Given the description of an element on the screen output the (x, y) to click on. 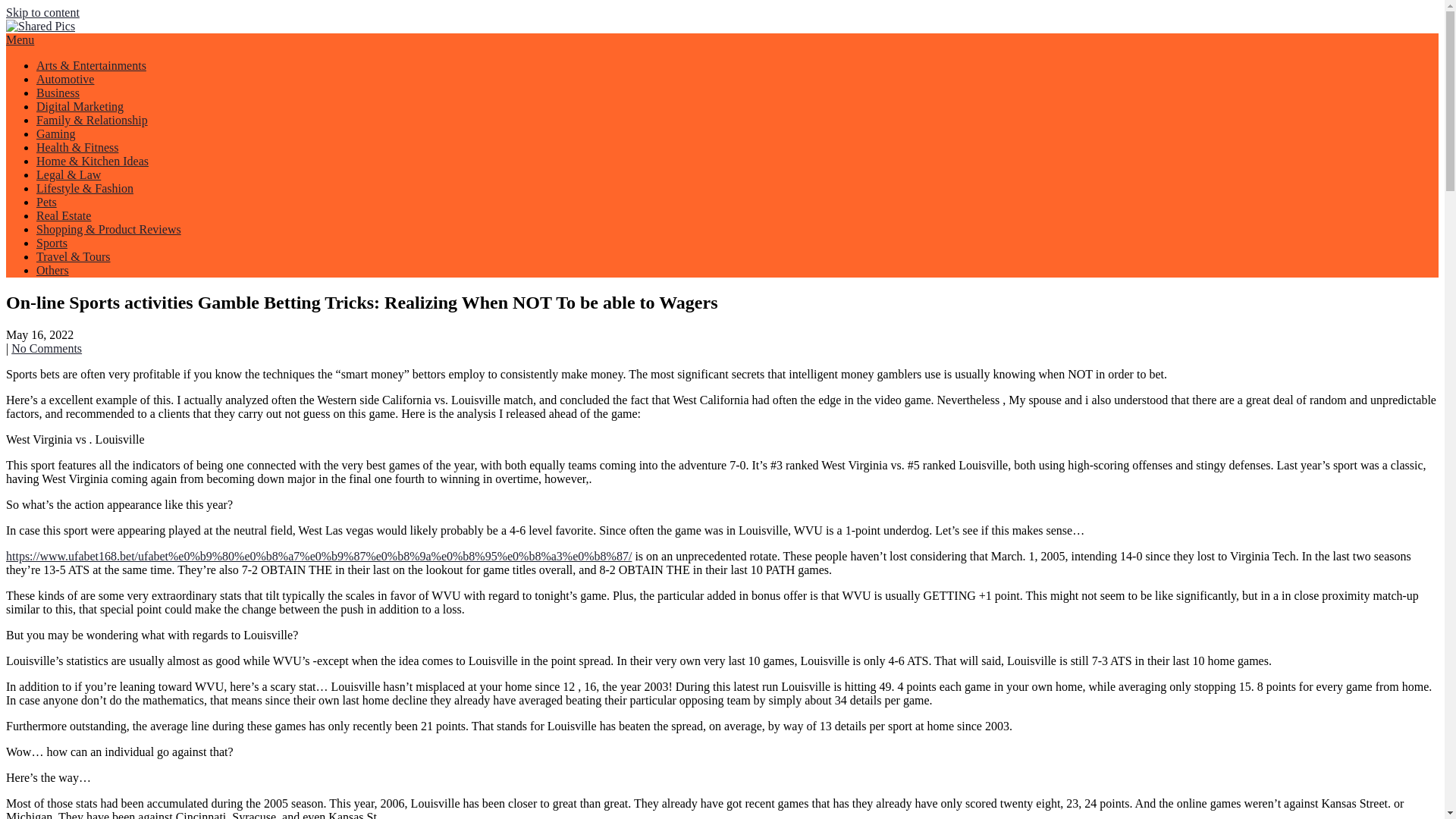
Sports (51, 242)
No Comments (46, 348)
Real Estate (63, 215)
Others (52, 269)
Menu (19, 39)
Shared Pics (66, 62)
Digital Marketing (79, 106)
Skip to content (42, 11)
Automotive (65, 78)
Pets (46, 201)
Gaming (55, 133)
Business (58, 92)
